Given the description of an element on the screen output the (x, y) to click on. 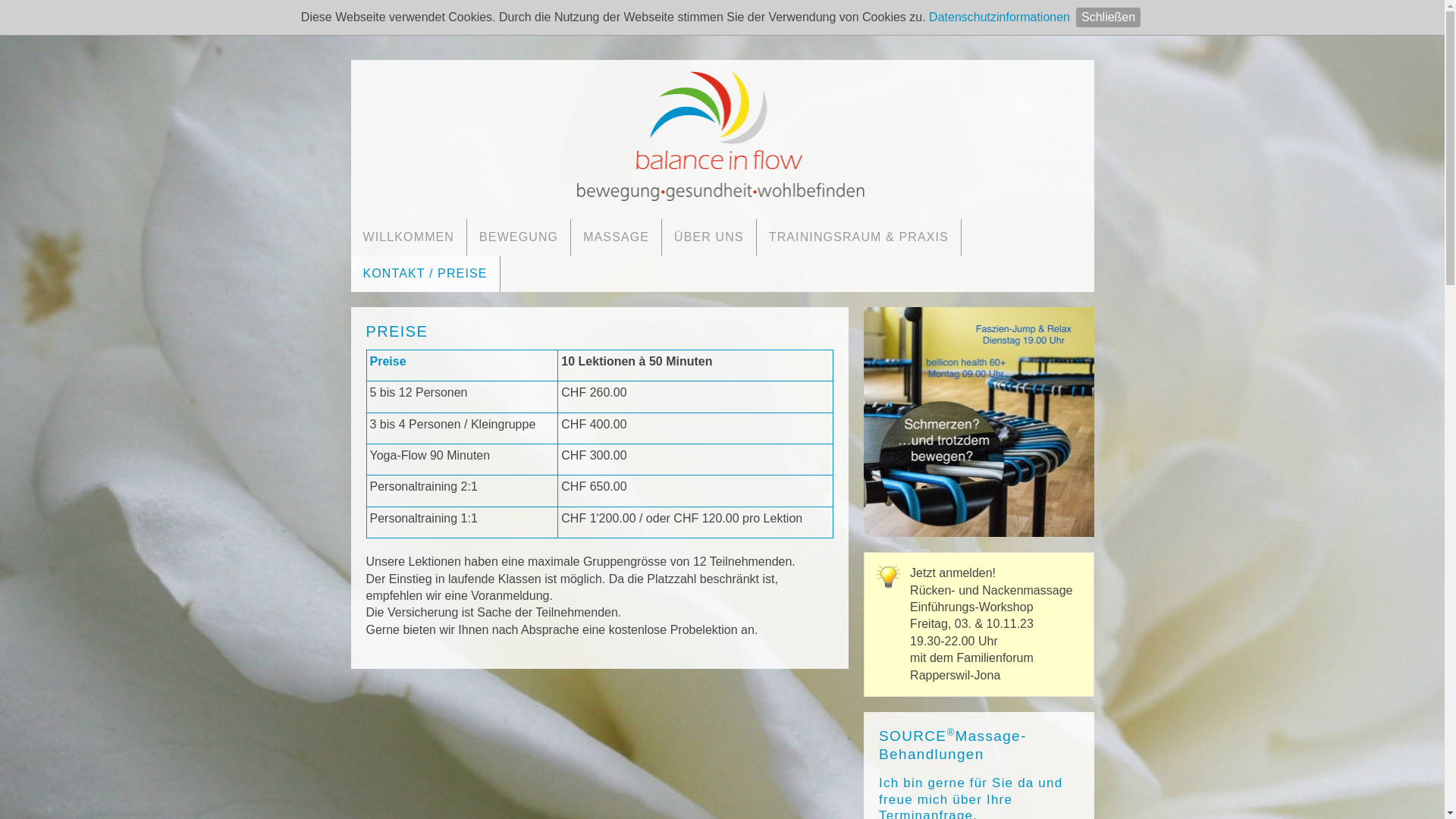
Zur Startseite Element type: hover (721, 134)
Yoga auf dem Stuhl Element type: hover (978, 421)
BEWEGUNG Element type: text (518, 237)
KONTAKT / PREISE Element type: text (424, 273)
TRAININGSRAUM & PRAXIS Element type: text (858, 237)
MASSAGE Element type: text (616, 237)
WILLKOMMEN Element type: text (408, 237)
Datenschutzinformationen Element type: text (999, 16)
